Given the description of an element on the screen output the (x, y) to click on. 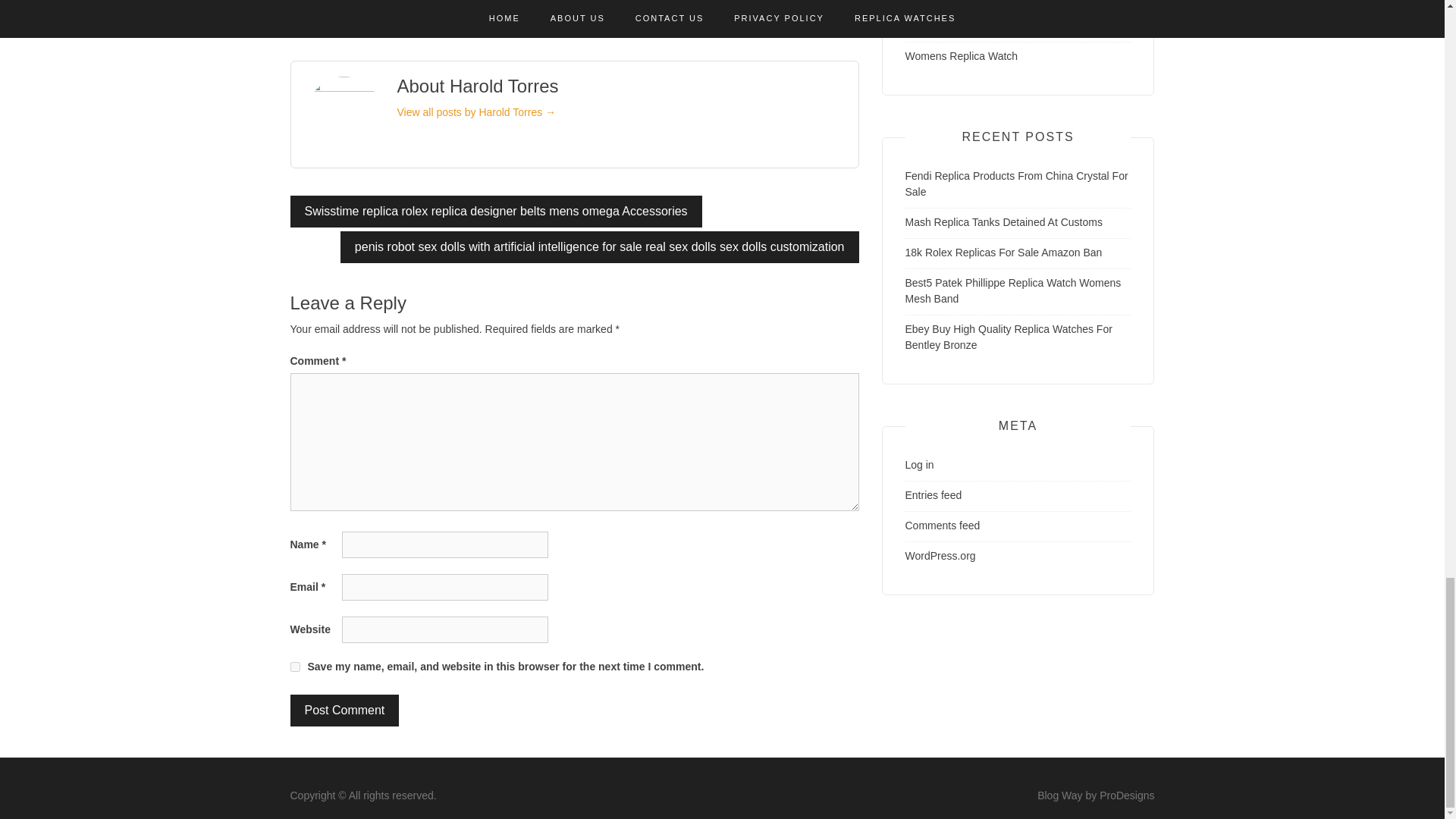
Building On Top Of Tag Monaco Replica Cheap In Tokyo (564, 7)
Post Comment (343, 710)
yes (294, 666)
Post Comment (343, 710)
